Given the description of an element on the screen output the (x, y) to click on. 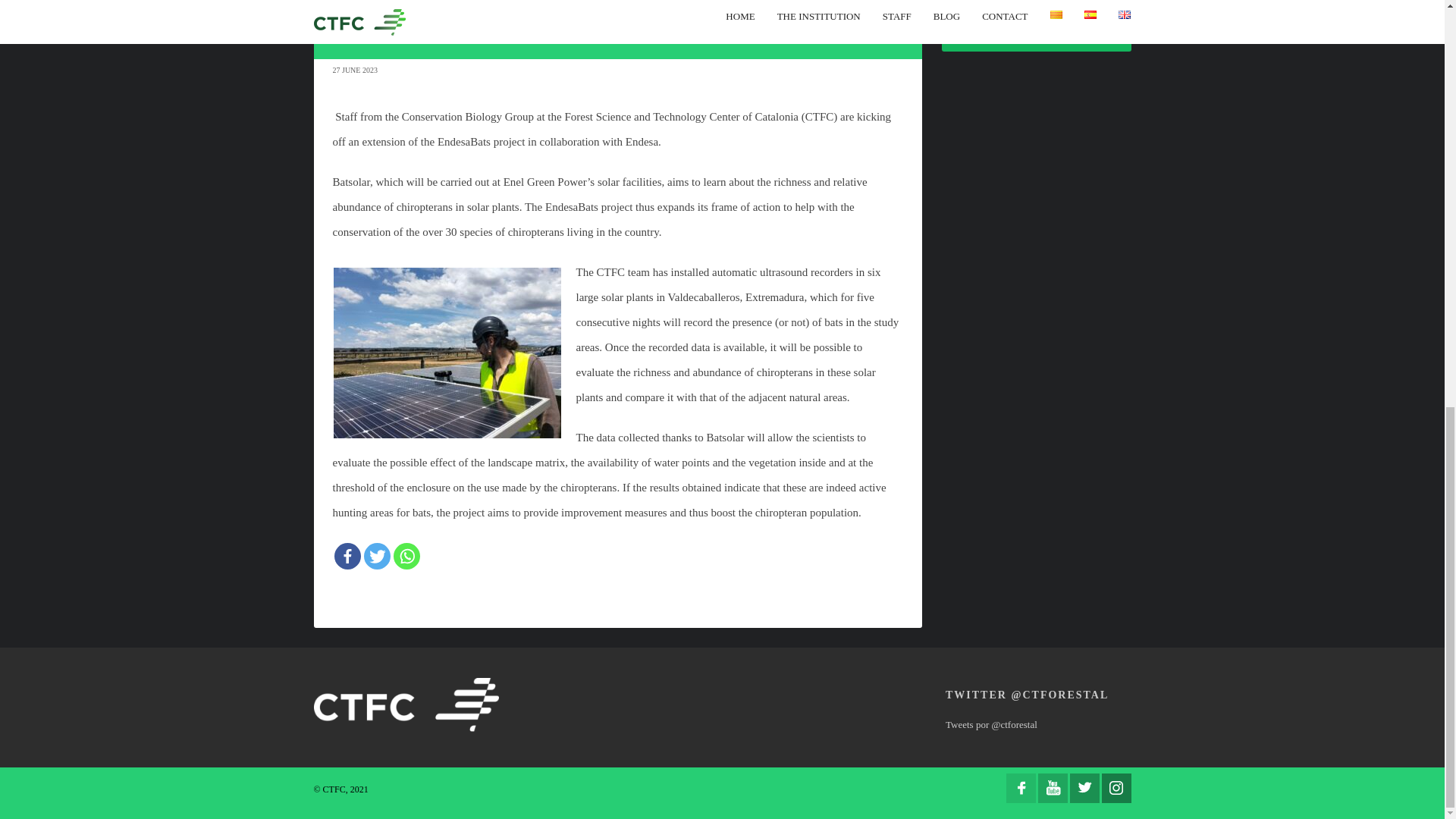
Bioeconomy, health and governance (1020, 18)
Twitter (377, 555)
Whatsapp (406, 555)
Facebook (346, 555)
